Given the description of an element on the screen output the (x, y) to click on. 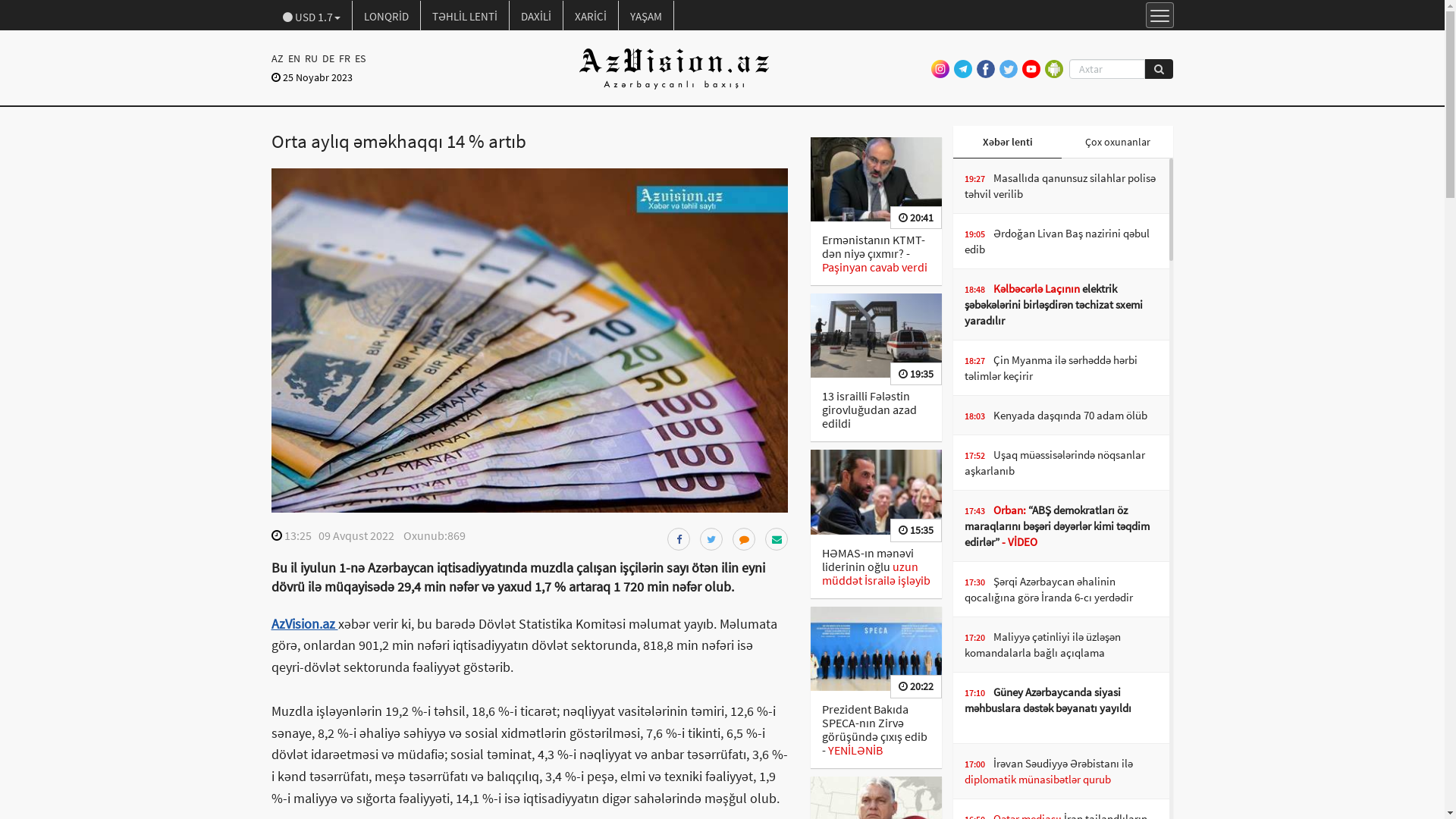
AzVision.az Element type: text (304, 623)
FR Element type: text (344, 58)
AZ Element type: text (278, 58)
DE Element type: text (328, 58)
ES Element type: text (359, 58)
USD 1.7 Element type: text (311, 15)
EN Element type: text (293, 58)
RU Element type: text (310, 58)
